Given the description of an element on the screen output the (x, y) to click on. 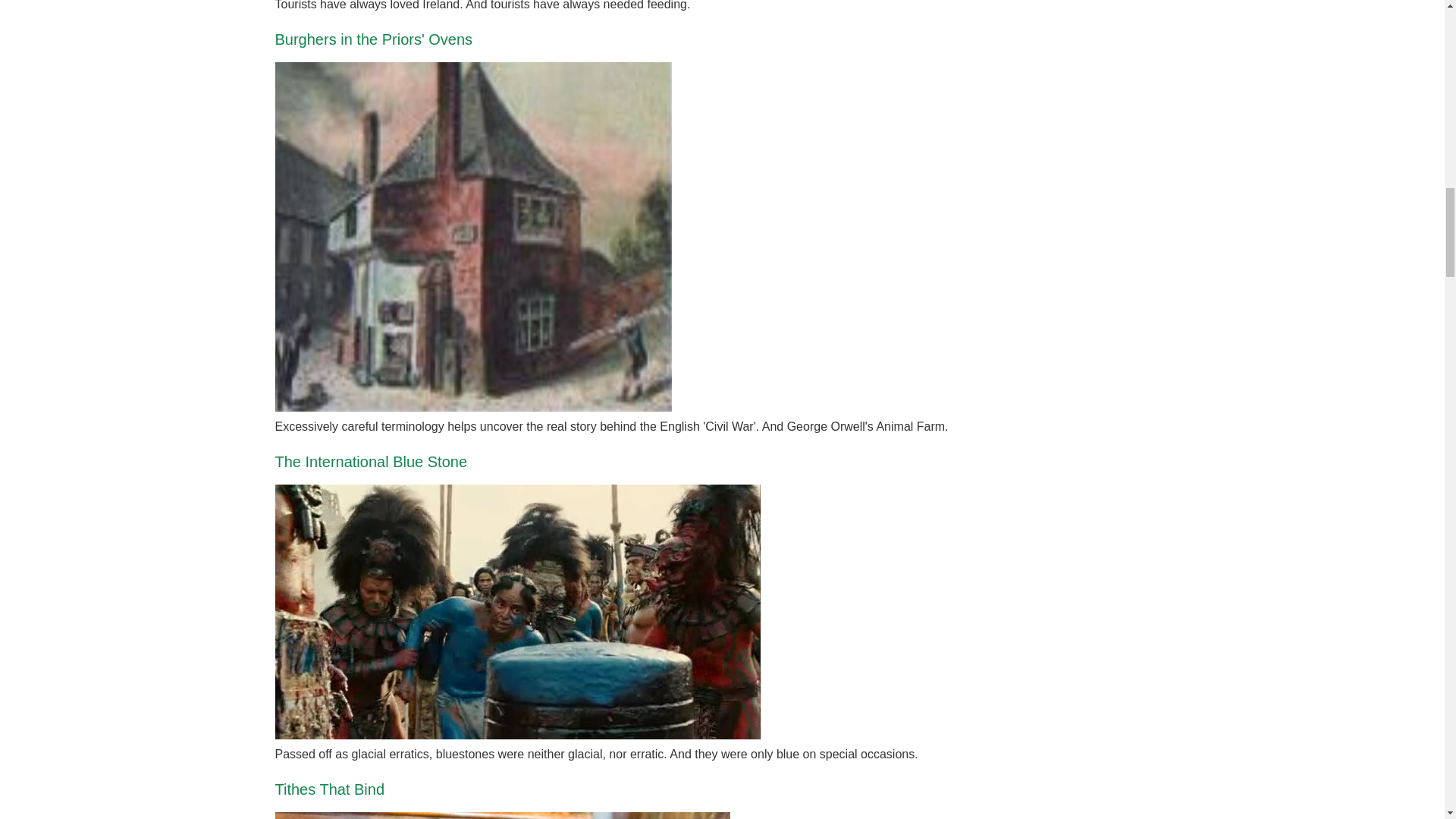
The International Blue Stone (371, 461)
Tithes That Bind (329, 789)
Burghers in the Priors' Ovens (373, 39)
